Given the description of an element on the screen output the (x, y) to click on. 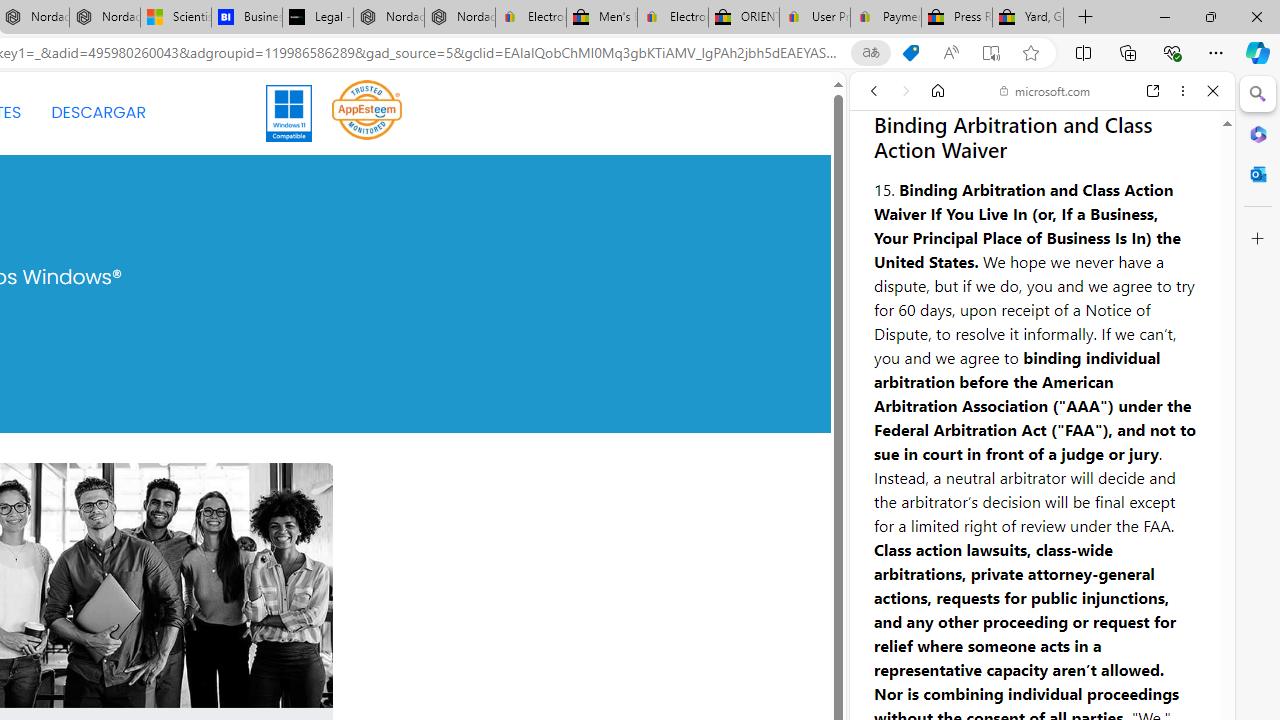
App Esteem (367, 109)
Windows 11 (289, 112)
microsoft.com (1045, 90)
